Given the description of an element on the screen output the (x, y) to click on. 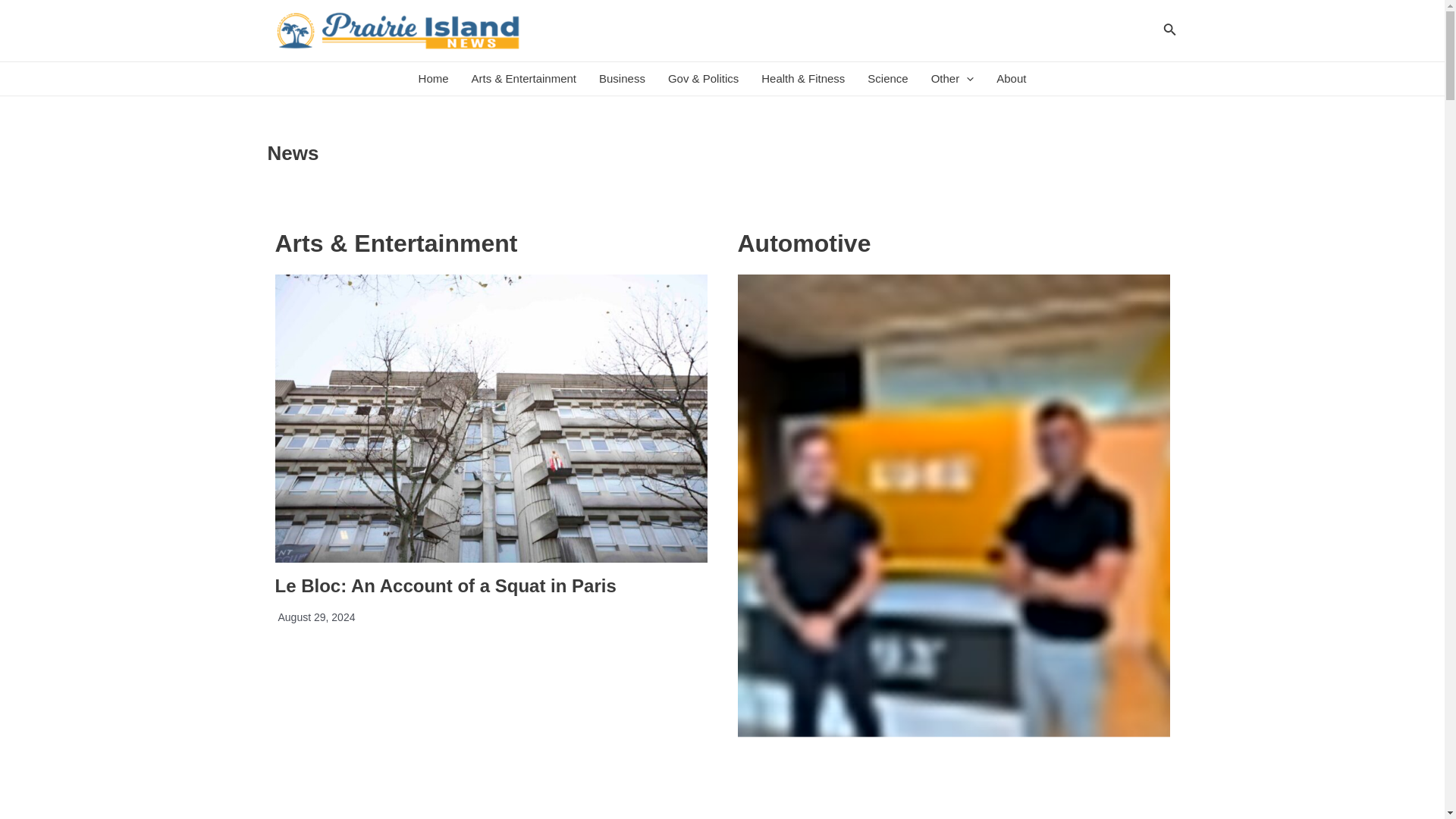
Home (433, 78)
Science (887, 78)
Business (622, 78)
Other (952, 78)
About (1010, 78)
